Given the description of an element on the screen output the (x, y) to click on. 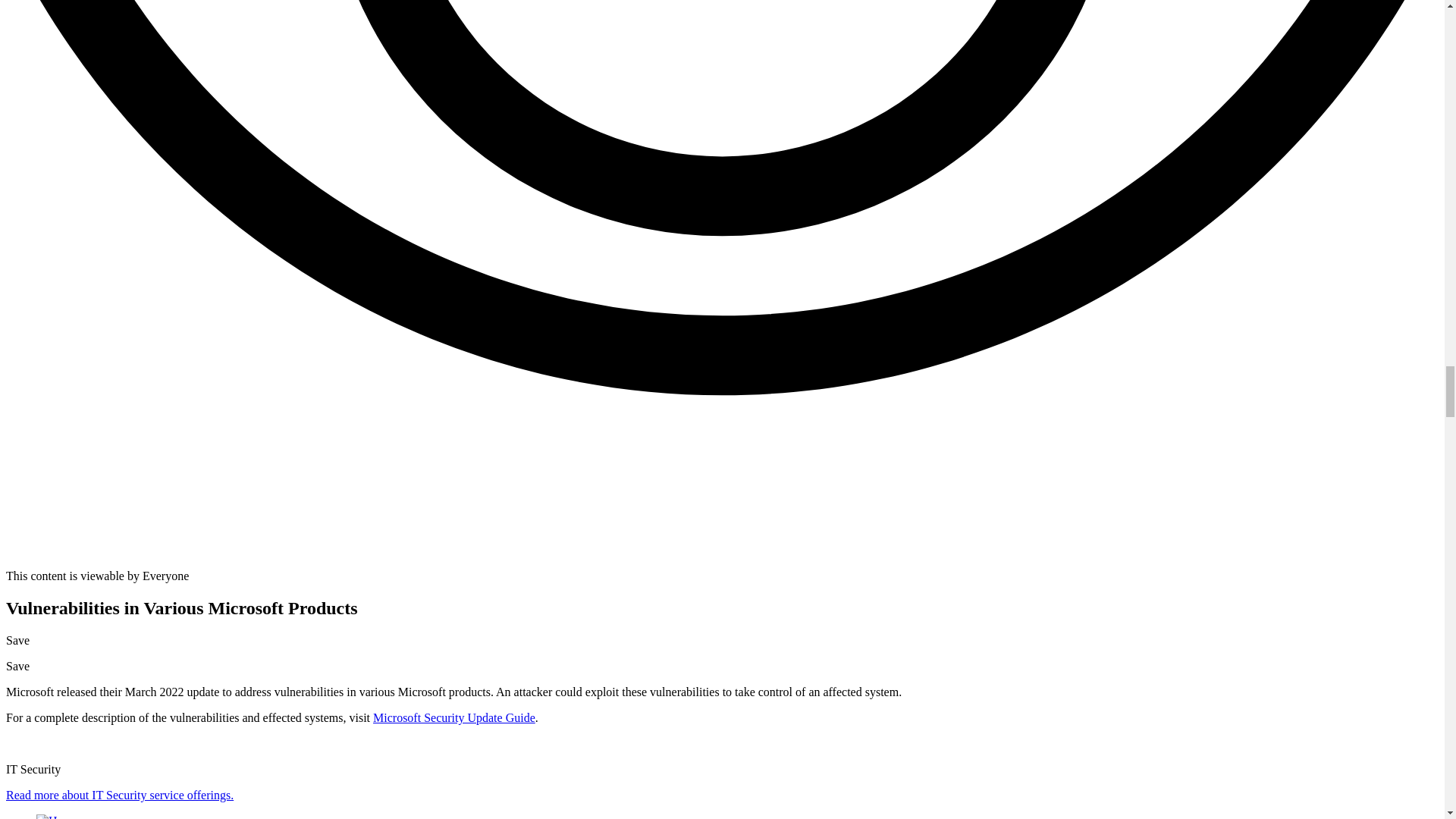
Home (57, 816)
Read more about IT Security service offerings. (118, 794)
Microsoft Security Update Guide (453, 717)
